Given the description of an element on the screen output the (x, y) to click on. 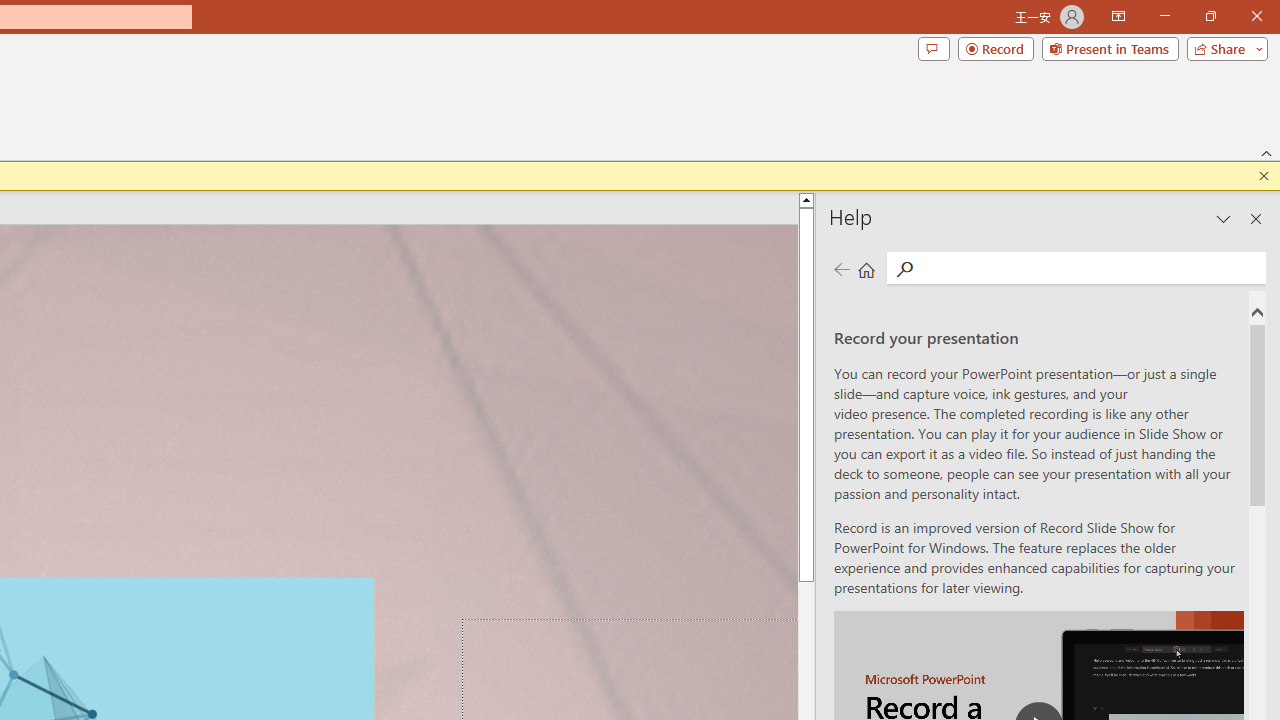
Close this message (1263, 176)
Previous page (841, 269)
